Given the description of an element on the screen output the (x, y) to click on. 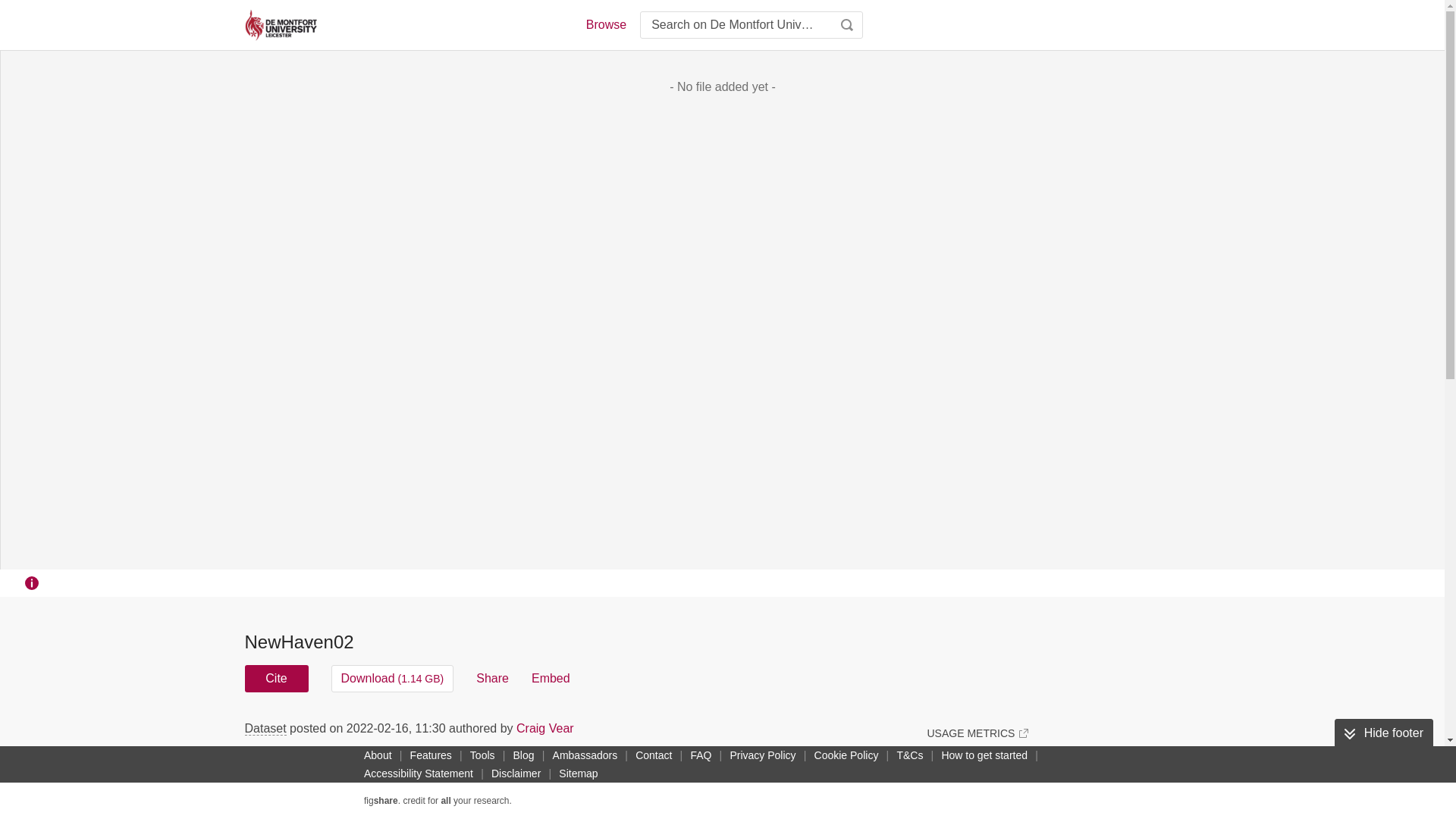
Ambassadors (585, 755)
Tools (482, 755)
Features (431, 755)
Privacy Policy (762, 755)
Blog (523, 755)
Craig Vear (544, 727)
USAGE METRICS (976, 732)
How to get started (984, 755)
Contact (653, 755)
Share (492, 678)
